Given the description of an element on the screen output the (x, y) to click on. 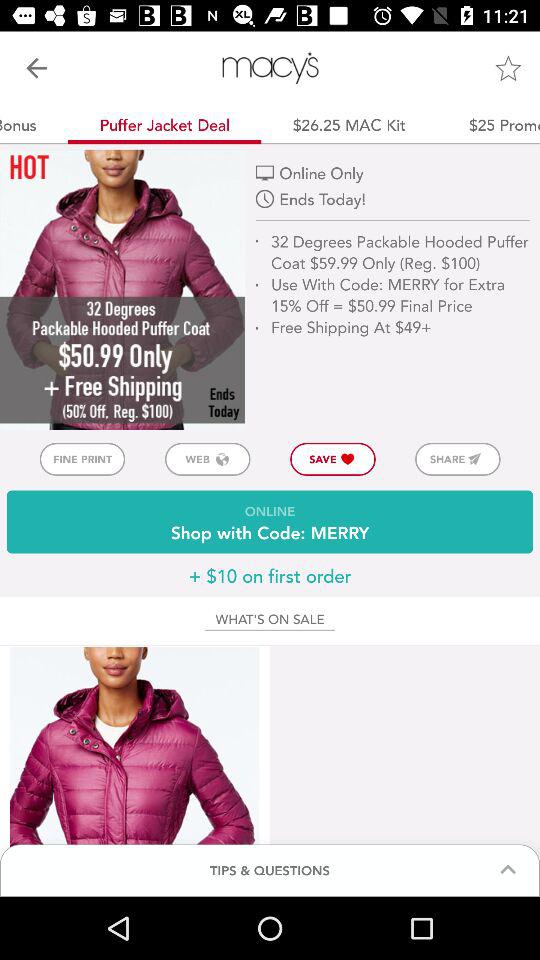
launch the fine print (82, 458)
